Given the description of an element on the screen output the (x, y) to click on. 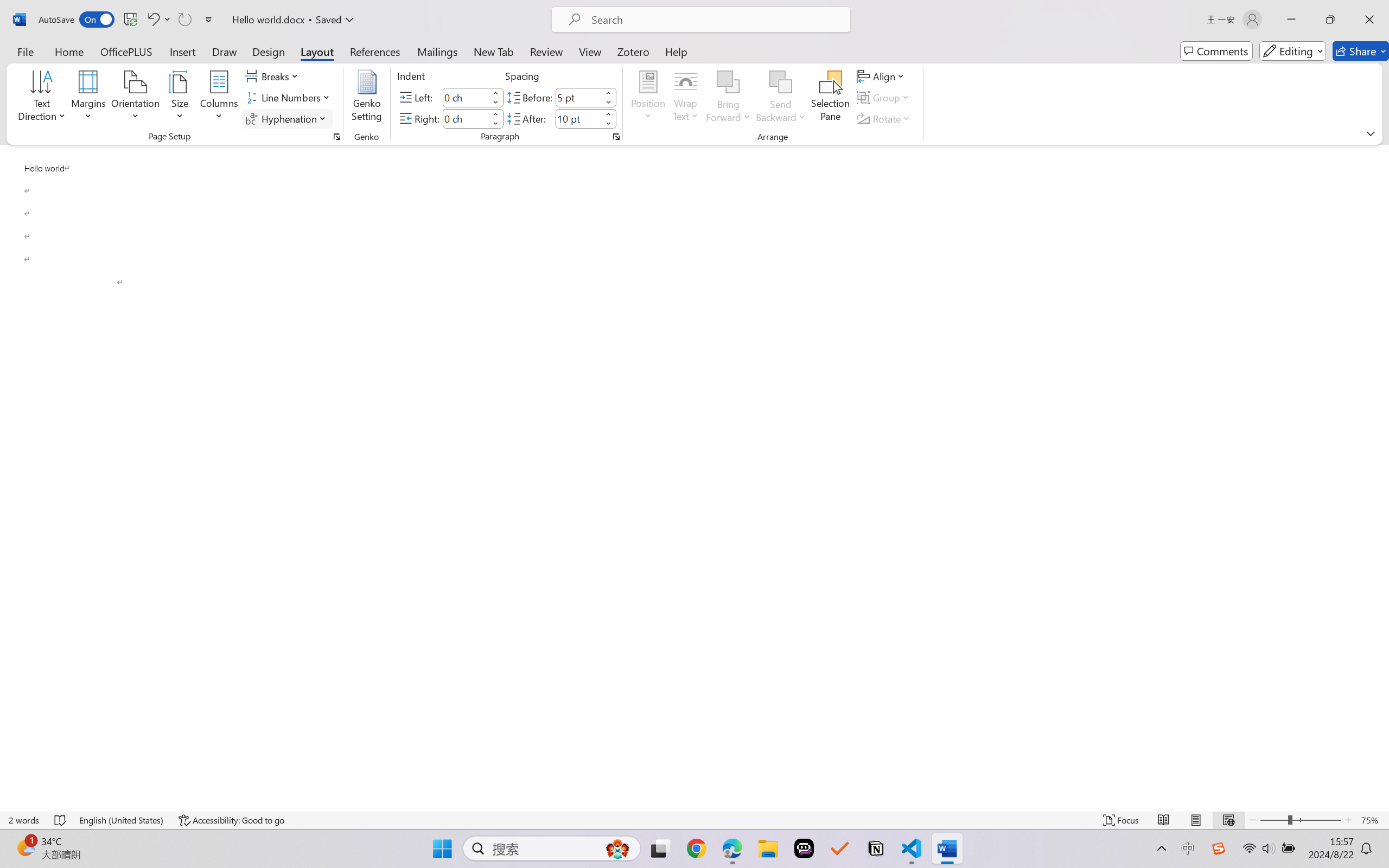
AutomationID: DynamicSearchBoxGleamImage (617, 848)
Less (608, 123)
Quick Access Toolbar (127, 19)
Draw (224, 51)
Class: MsoCommandBar (694, 819)
